Given the description of an element on the screen output the (x, y) to click on. 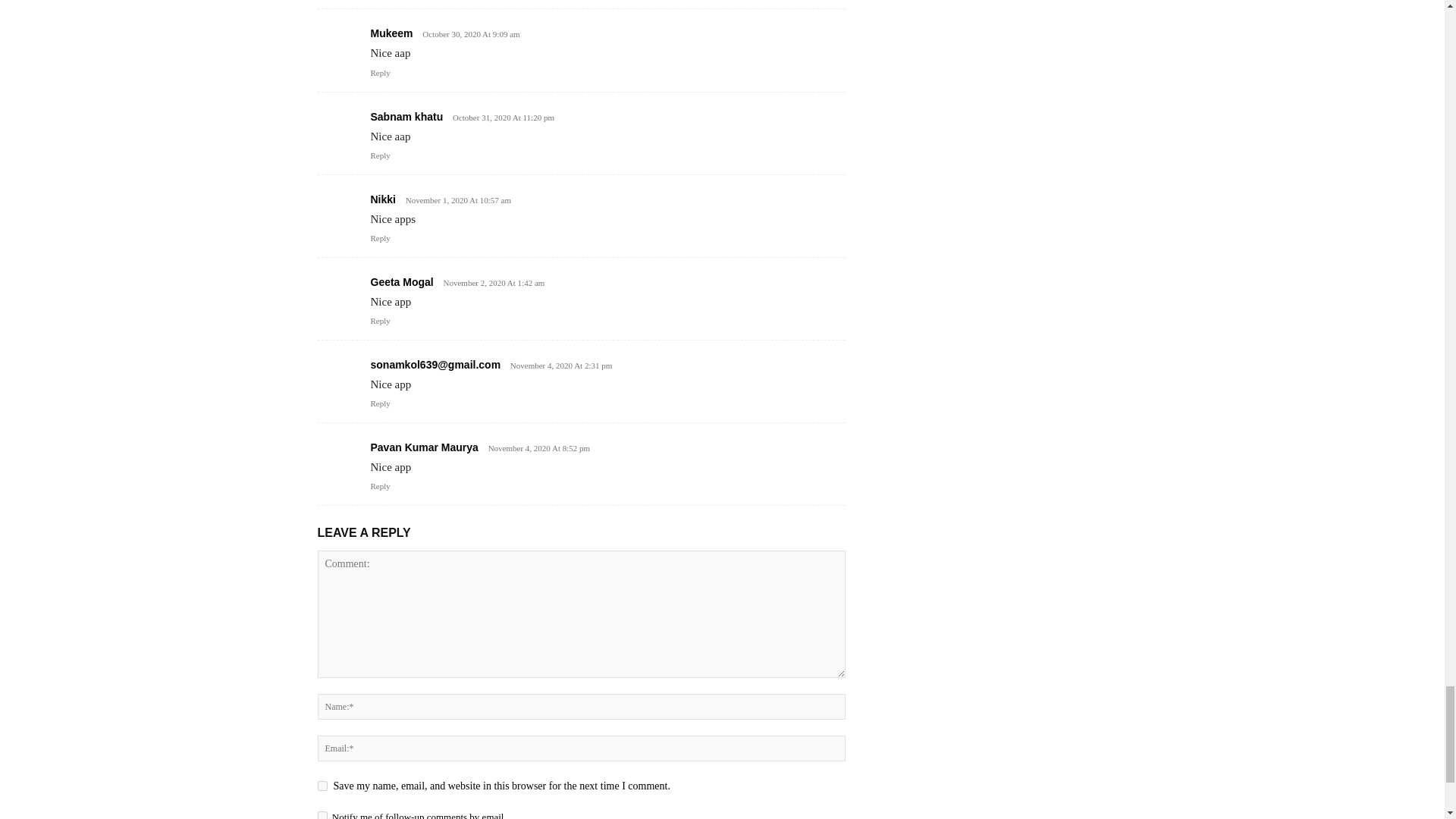
subscribe (321, 815)
yes (321, 786)
